Given the description of an element on the screen output the (x, y) to click on. 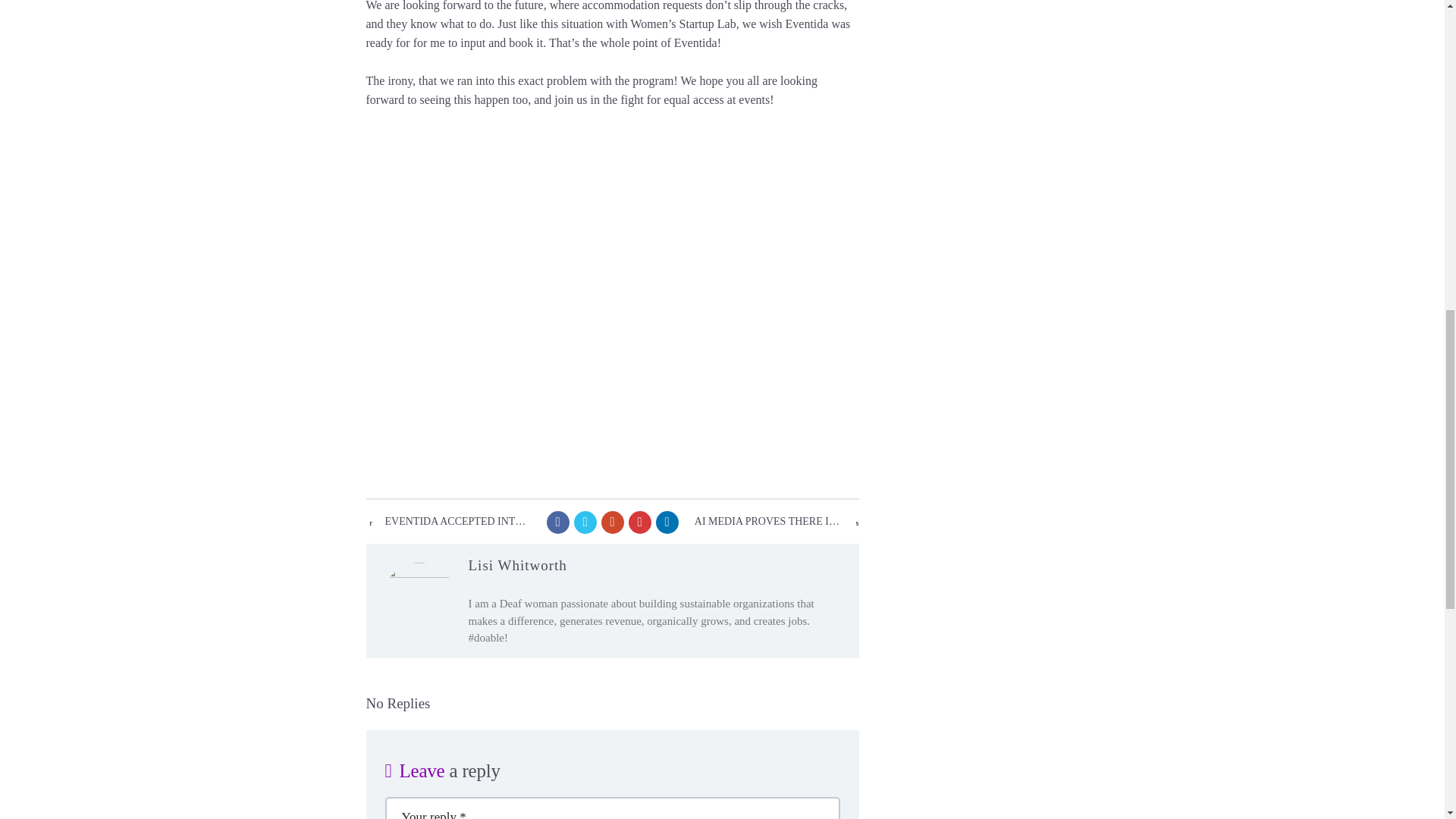
Share on Facebook (557, 522)
Share on LinkedIn (666, 522)
Share on Google Plus (611, 522)
Share on Twitter (584, 522)
AI MEDIA PROVES THERE IS A NEED FOR EVENTIDA! (768, 521)
Share on Pinterest (638, 522)
EVENTIDA ACCEPTED INTO SILICON VALLEY ACCELERATOR! (458, 521)
